Given the description of an element on the screen output the (x, y) to click on. 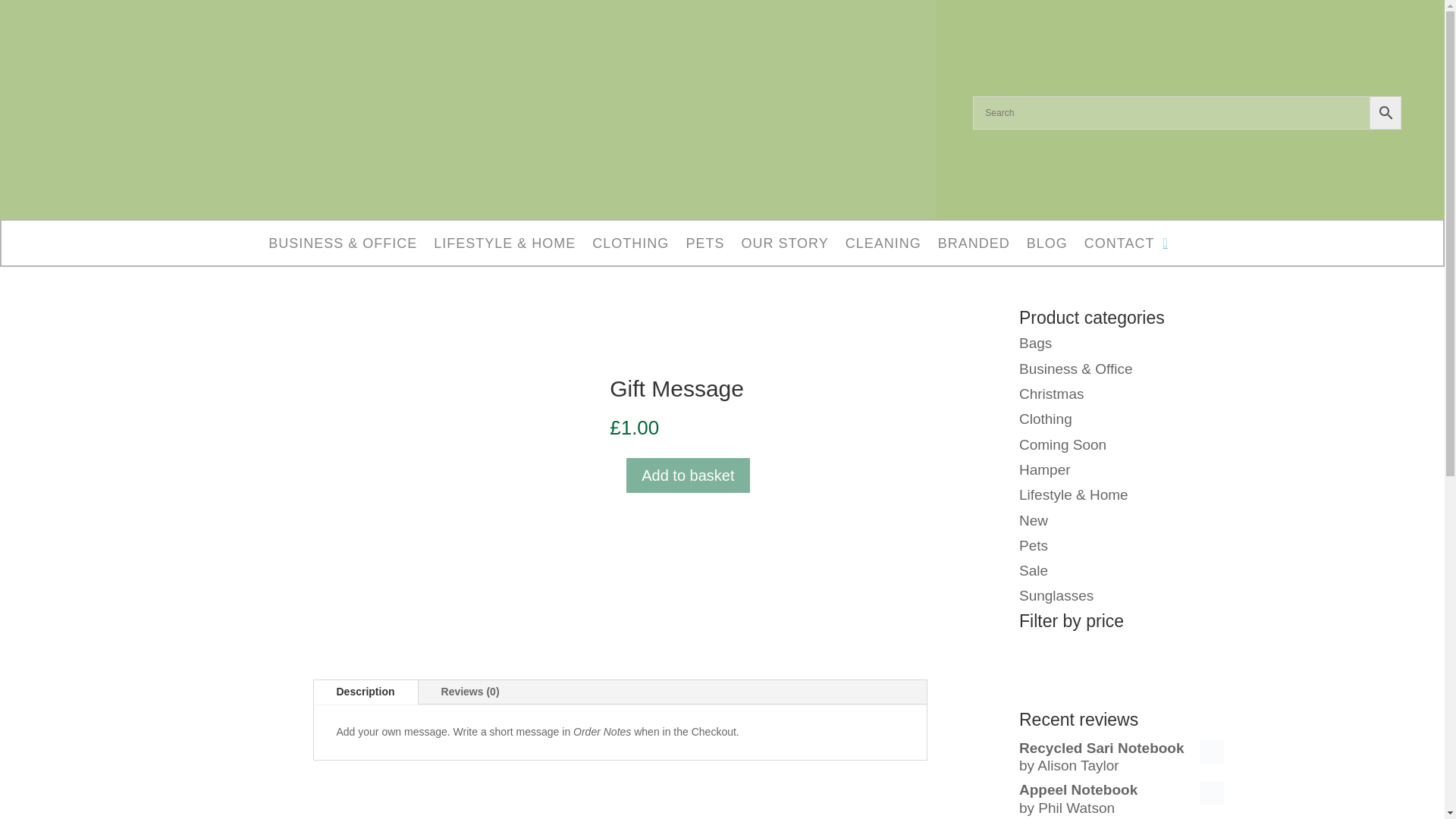
BRANDED (973, 246)
CLOTHING (630, 246)
New (1033, 520)
Recycled Sari Notebook (1121, 748)
Sale (1033, 570)
CLEANING (883, 246)
Sunglasses (1056, 595)
Add to basket (687, 475)
CONTACT (1119, 246)
Description (365, 692)
Hamper (1044, 469)
Christmas (1051, 393)
BLOG (1046, 246)
Pets (1033, 545)
Coming Soon (1062, 444)
